Given the description of an element on the screen output the (x, y) to click on. 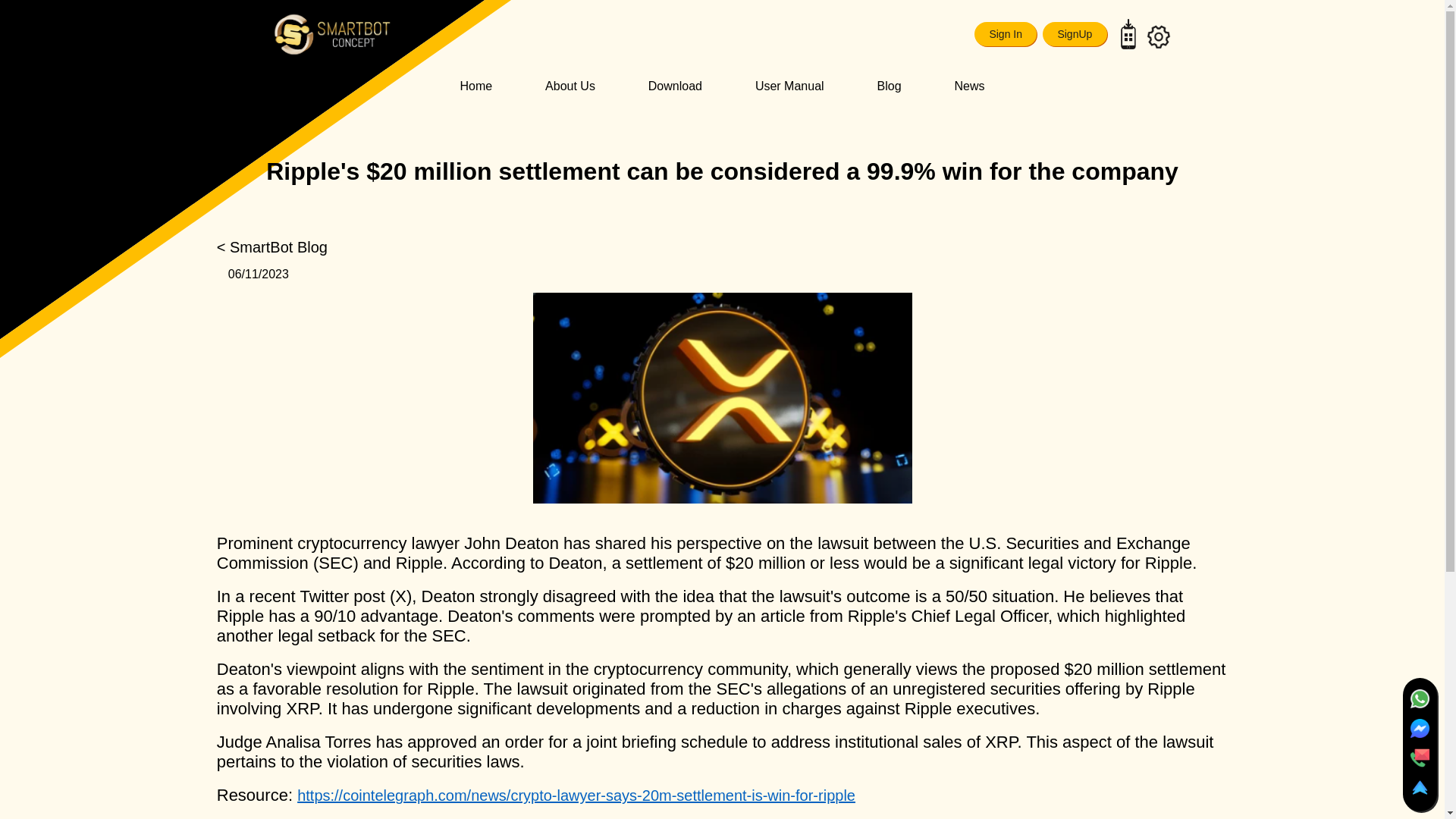
English (1130, 92)
Sign In (1005, 33)
Home (476, 86)
User Manual (789, 86)
SignUp (1074, 33)
More Options (1143, 131)
Download (674, 86)
News (968, 86)
About Us (569, 86)
Blog (888, 86)
